Given the description of an element on the screen output the (x, y) to click on. 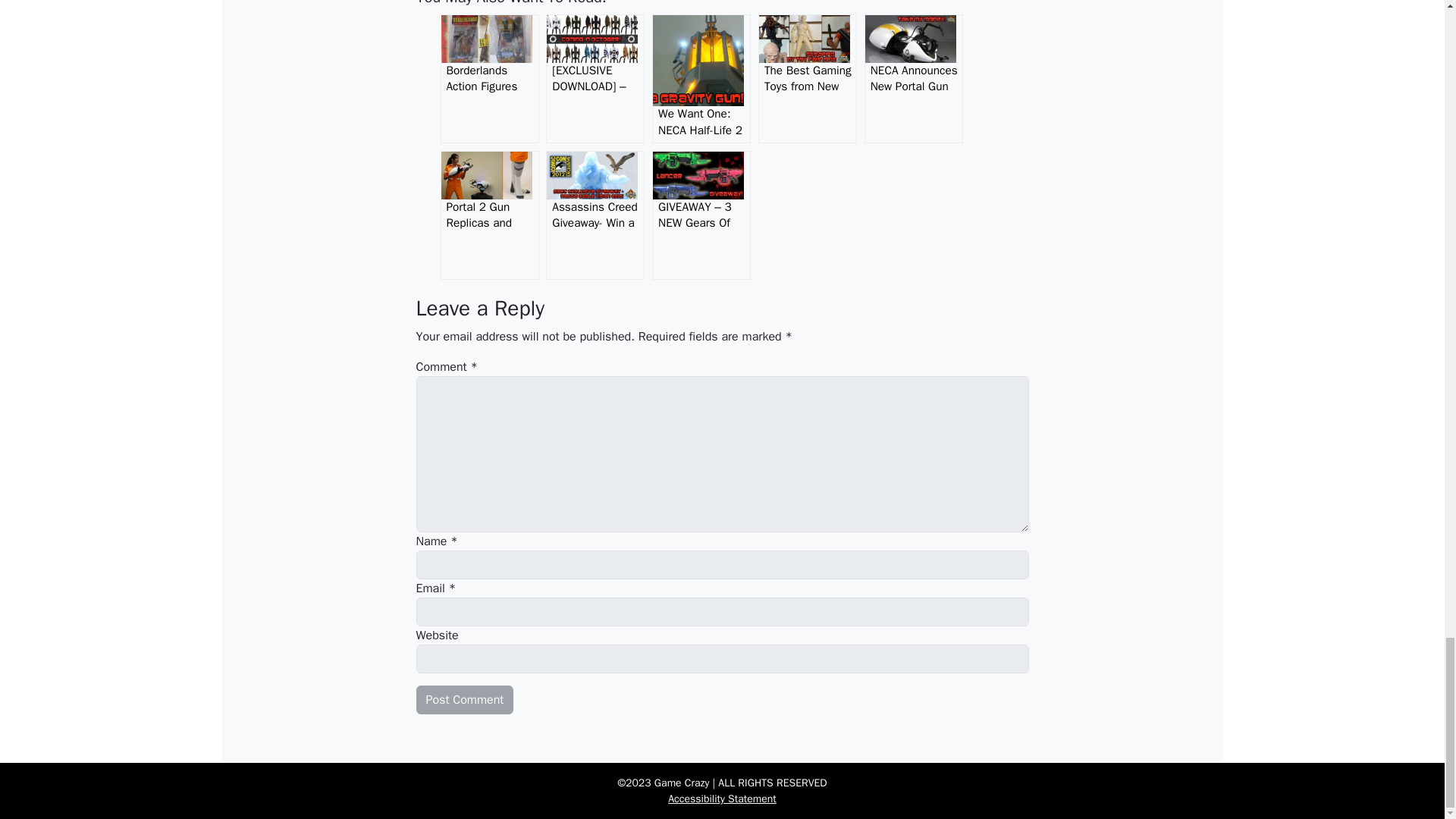
Accessibility Statement (722, 798)
Post Comment (463, 699)
Post Comment (463, 699)
